Given the description of an element on the screen output the (x, y) to click on. 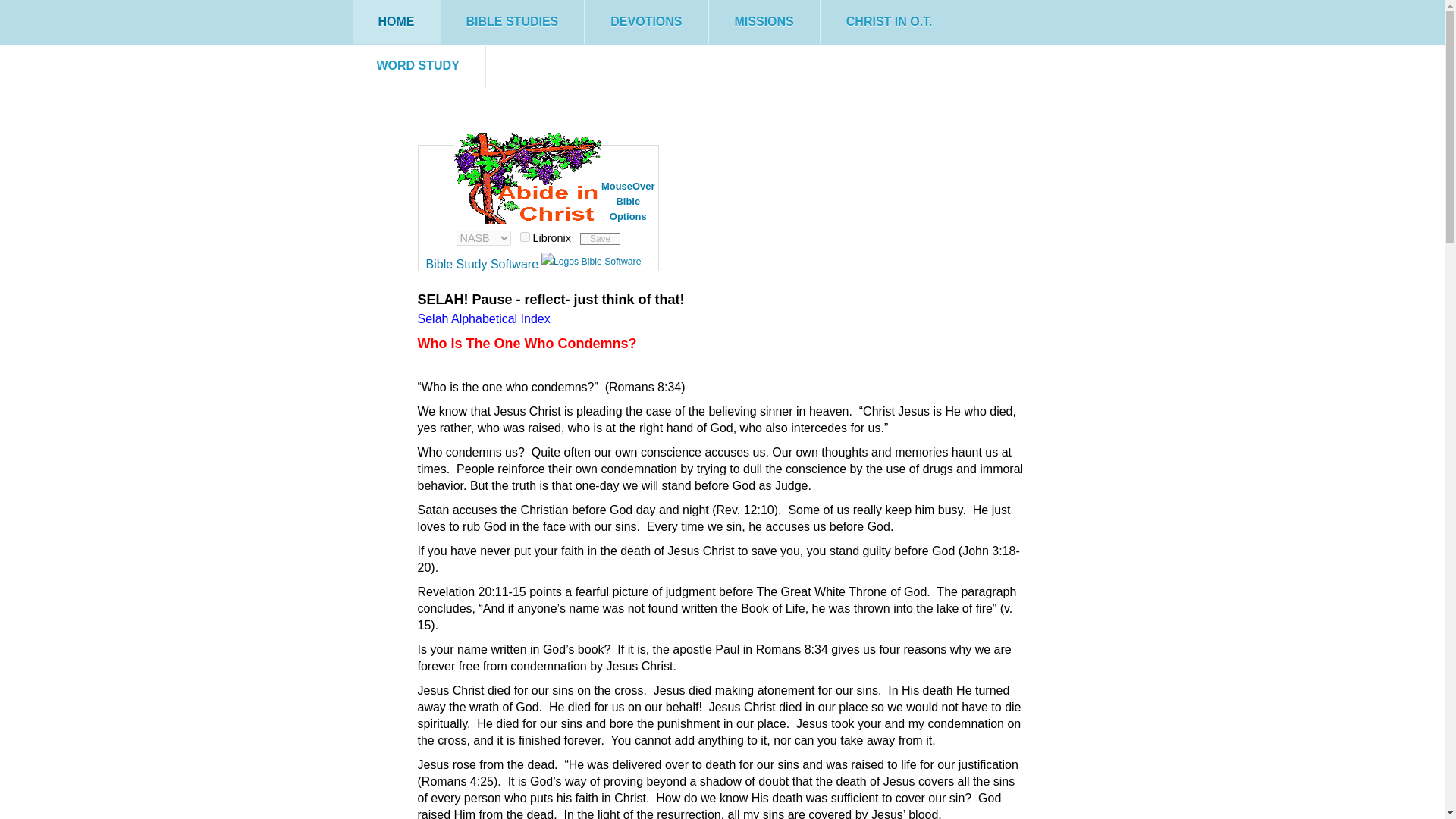
CHRIST IN O.T. (889, 22)
Logos Bible Software (591, 261)
Bible Study Software (482, 264)
Save (599, 238)
Selah Alphabetical Index (483, 318)
WORD STUDY (417, 65)
HOME (395, 22)
ON (524, 236)
MouseOver Bible Options (539, 194)
BIBLE STUDIES (511, 22)
MISSIONS (764, 22)
DEVOTIONS (646, 22)
